Given the description of an element on the screen output the (x, y) to click on. 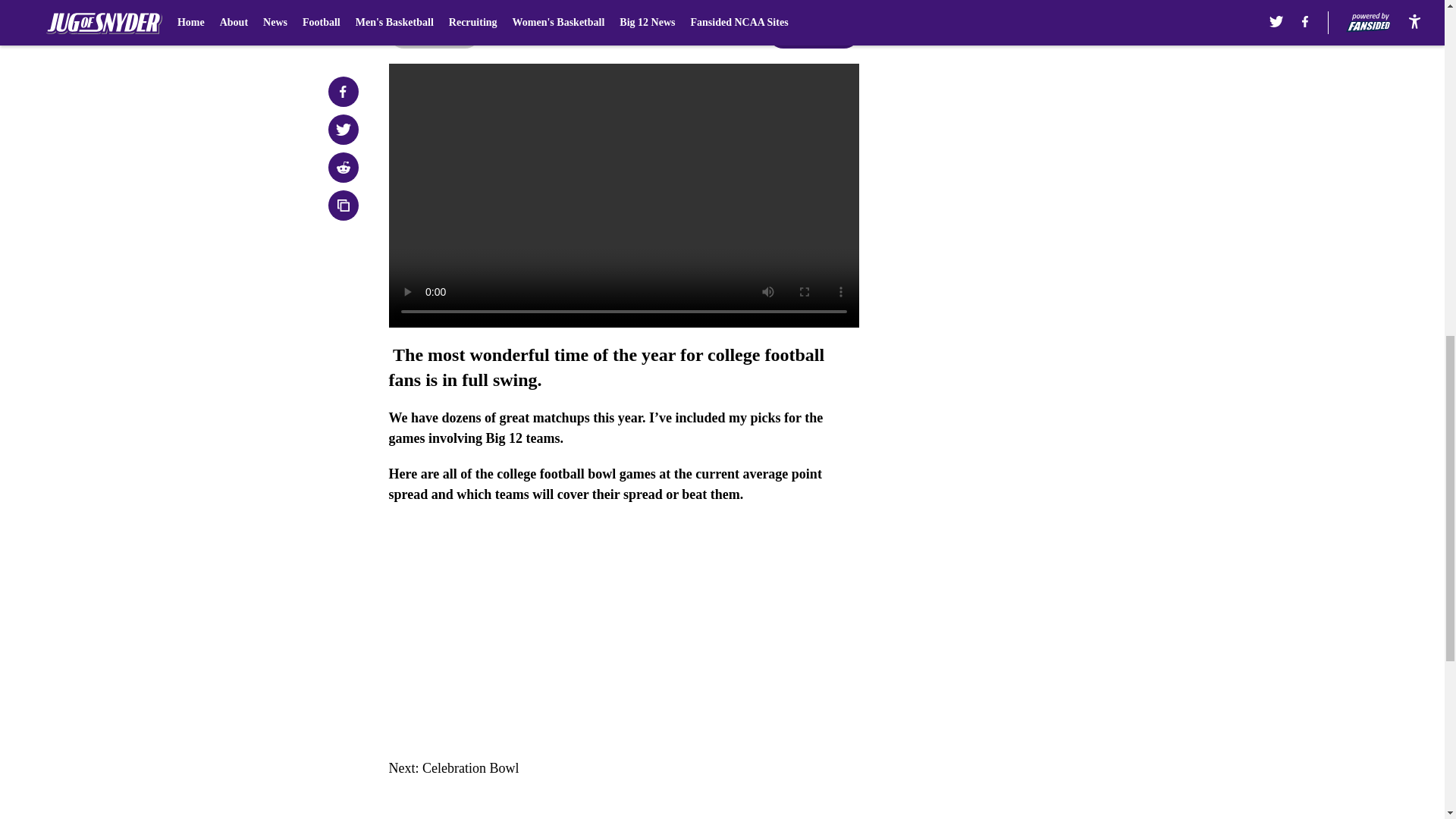
3rd party ad content (1047, 113)
Prev (433, 33)
Next (813, 33)
3rd party ad content (1047, 332)
